Given the description of an element on the screen output the (x, y) to click on. 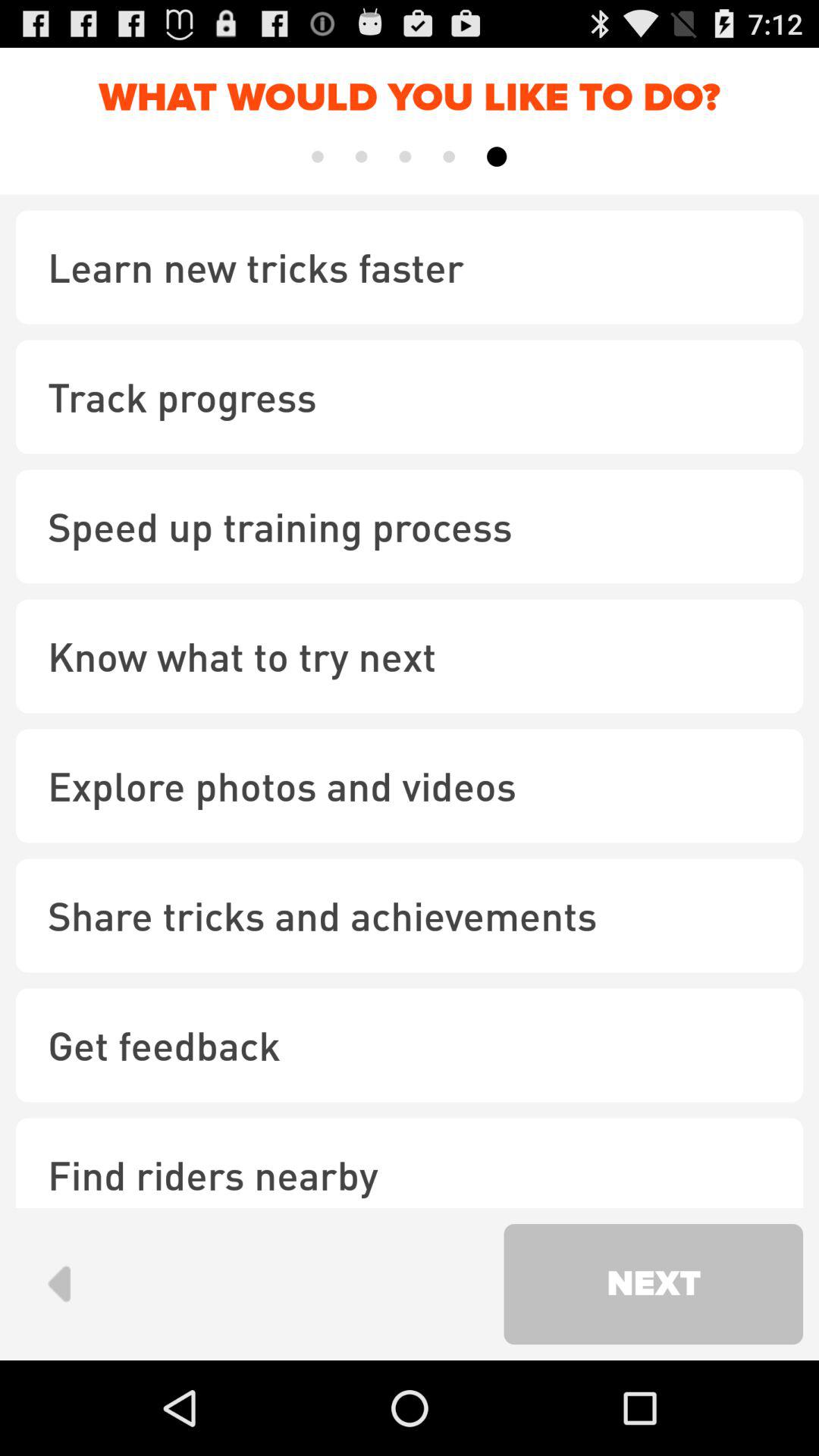
click the icon to the left of the next item (58, 1283)
